Given the description of an element on the screen output the (x, y) to click on. 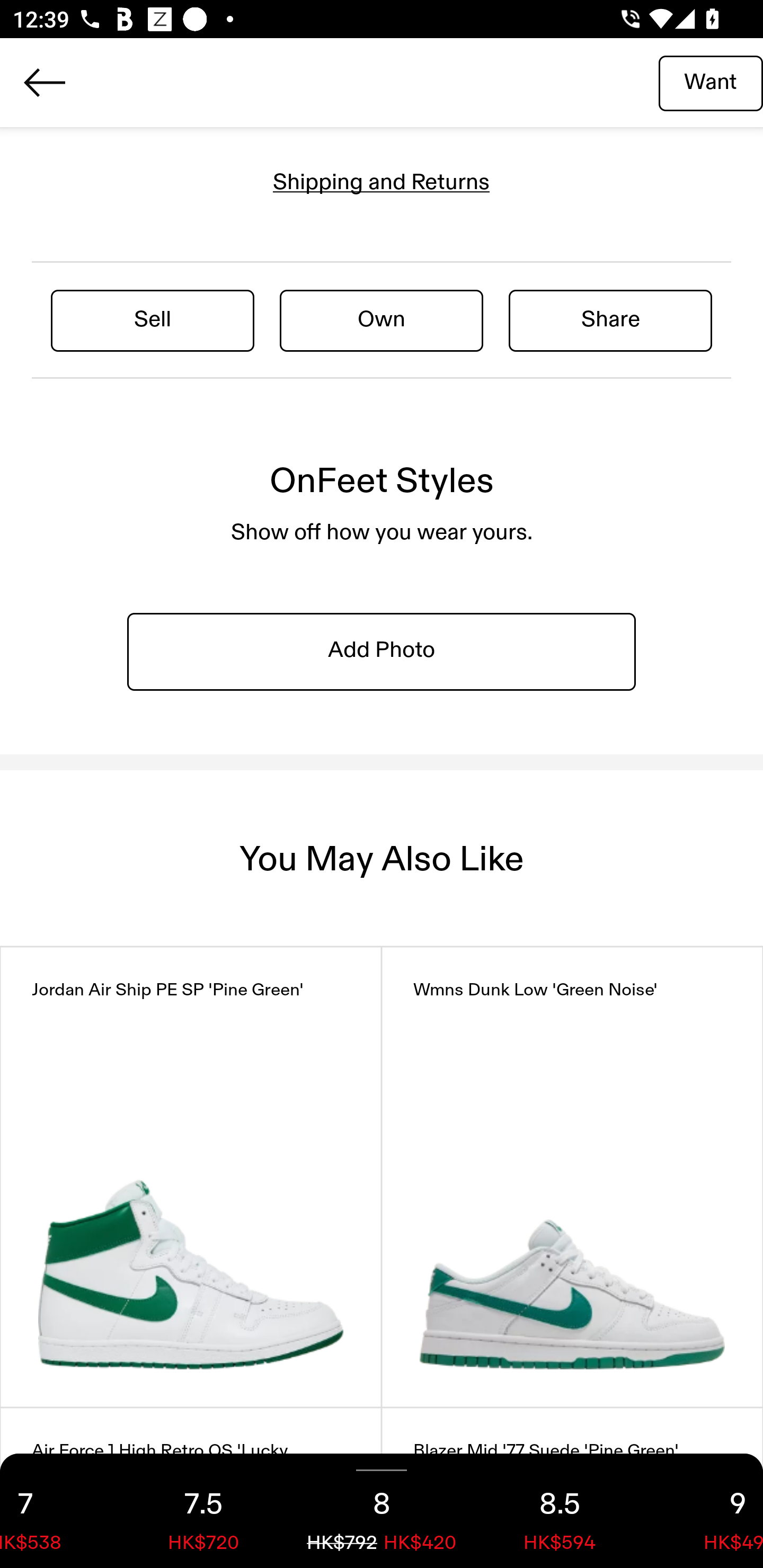
Want (710, 82)
Shipping and Returns (381, 182)
Sell (152, 319)
Own (381, 319)
Share (609, 319)
Add Photo (381, 651)
Jordan Air Ship PE SP 'Pine Green' (190, 1177)
Wmns Dunk Low 'Green Noise' (572, 1177)
7 HK$538 (57, 1510)
7.5 HK$720 (203, 1510)
8 HK$792 HK$420 (381, 1510)
8.5 HK$594 (559, 1510)
9 HK$491 (705, 1510)
